Given the description of an element on the screen output the (x, y) to click on. 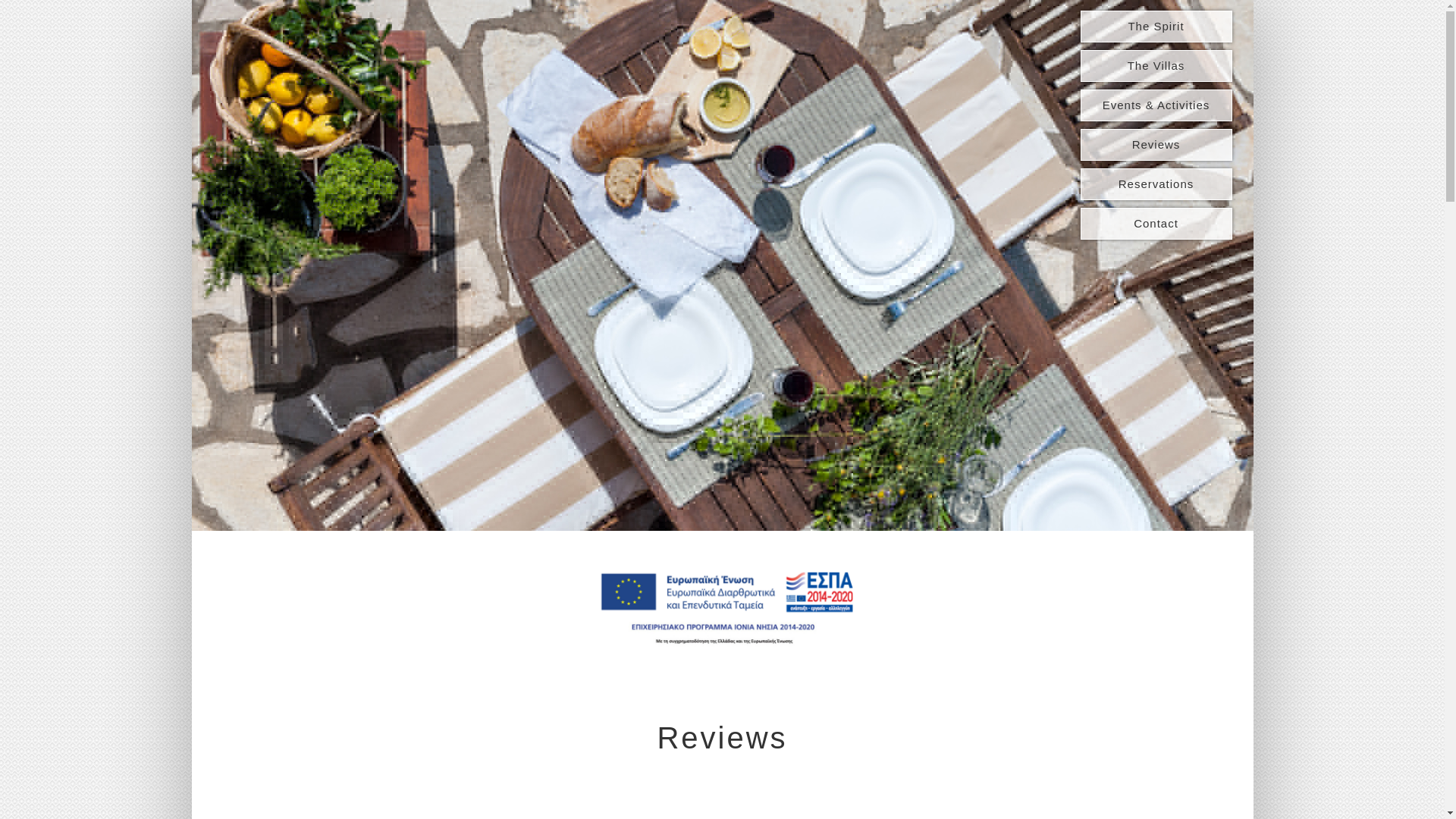
Reservations (1155, 183)
The Spirit (1155, 26)
Reviews (1155, 144)
Contact (1155, 223)
Penelope Villas (288, 57)
The Villas (1155, 65)
